Given the description of an element on the screen output the (x, y) to click on. 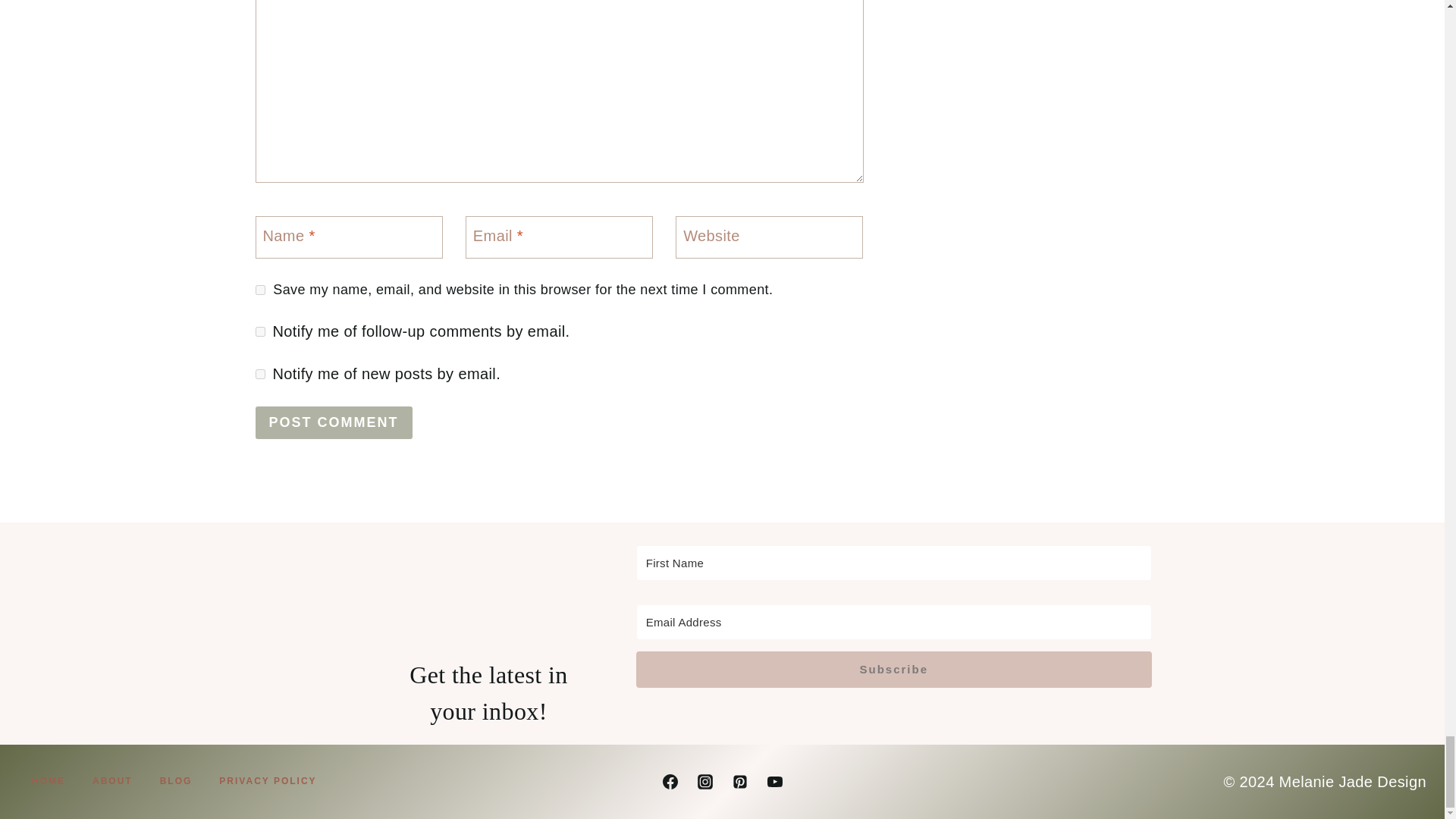
Post Comment (333, 422)
subscribe (259, 331)
subscribe (259, 374)
yes (259, 289)
